Given the description of an element on the screen output the (x, y) to click on. 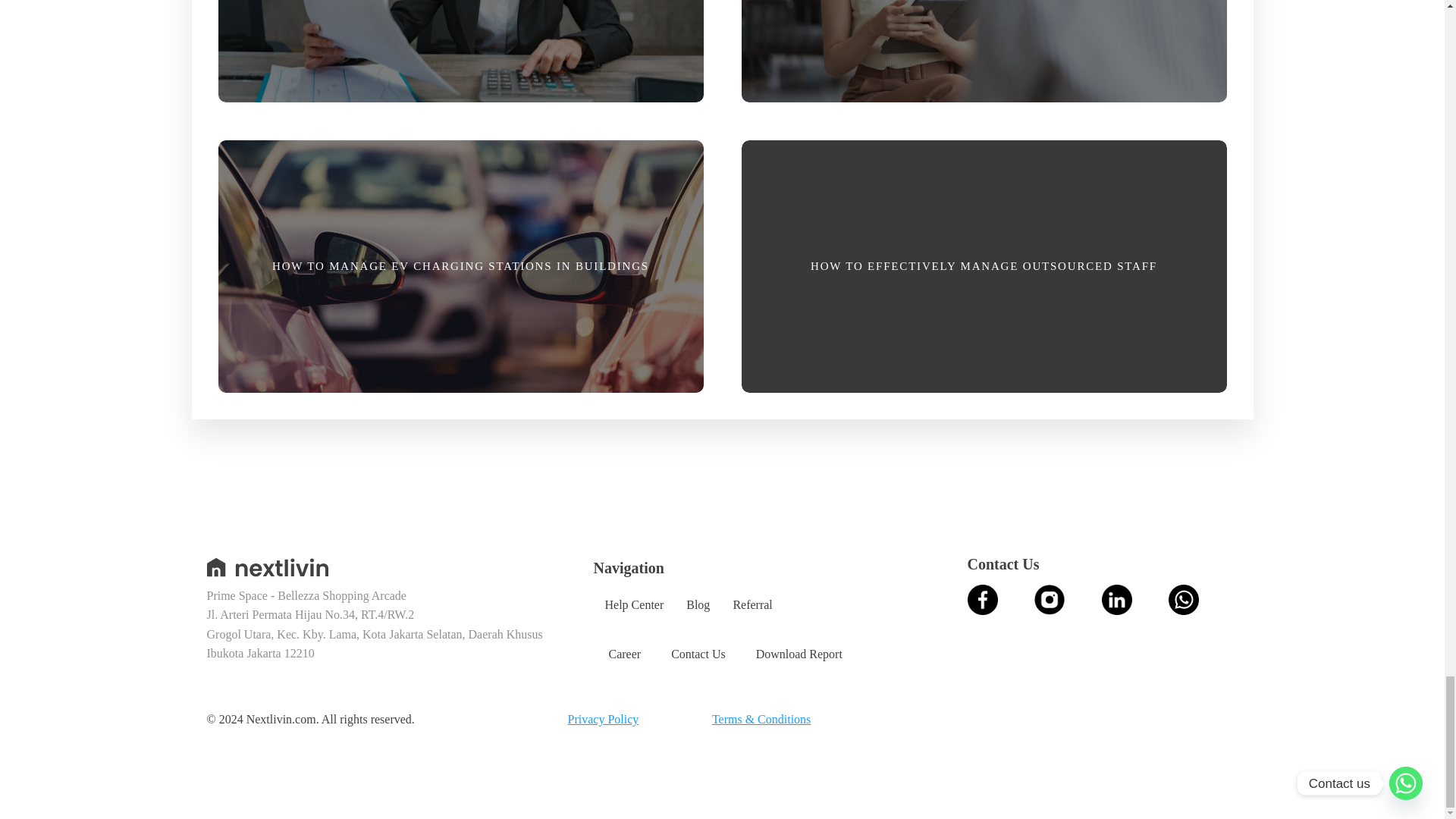
Referral (751, 604)
Contact Us (698, 654)
Privacy Policy (603, 719)
7 STEPS IN NEGOTIATING WITH VENDORS IN PROPERTY MANAGEMENT (983, 56)
Blog (697, 604)
Career (624, 654)
Download Report (799, 654)
